Given the description of an element on the screen output the (x, y) to click on. 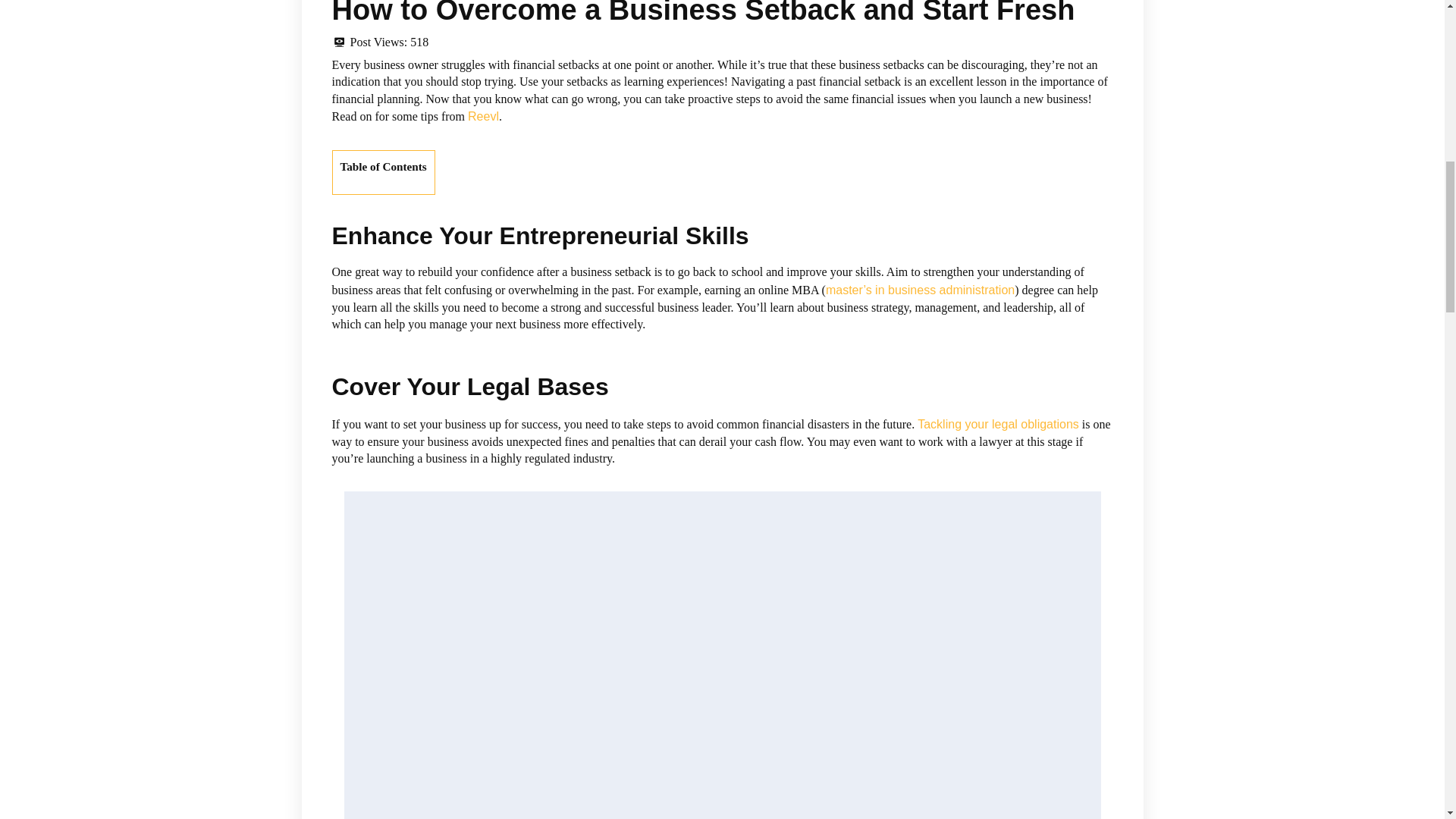
Reevl (483, 115)
Tackling your legal obligations (997, 423)
